Given the description of an element on the screen output the (x, y) to click on. 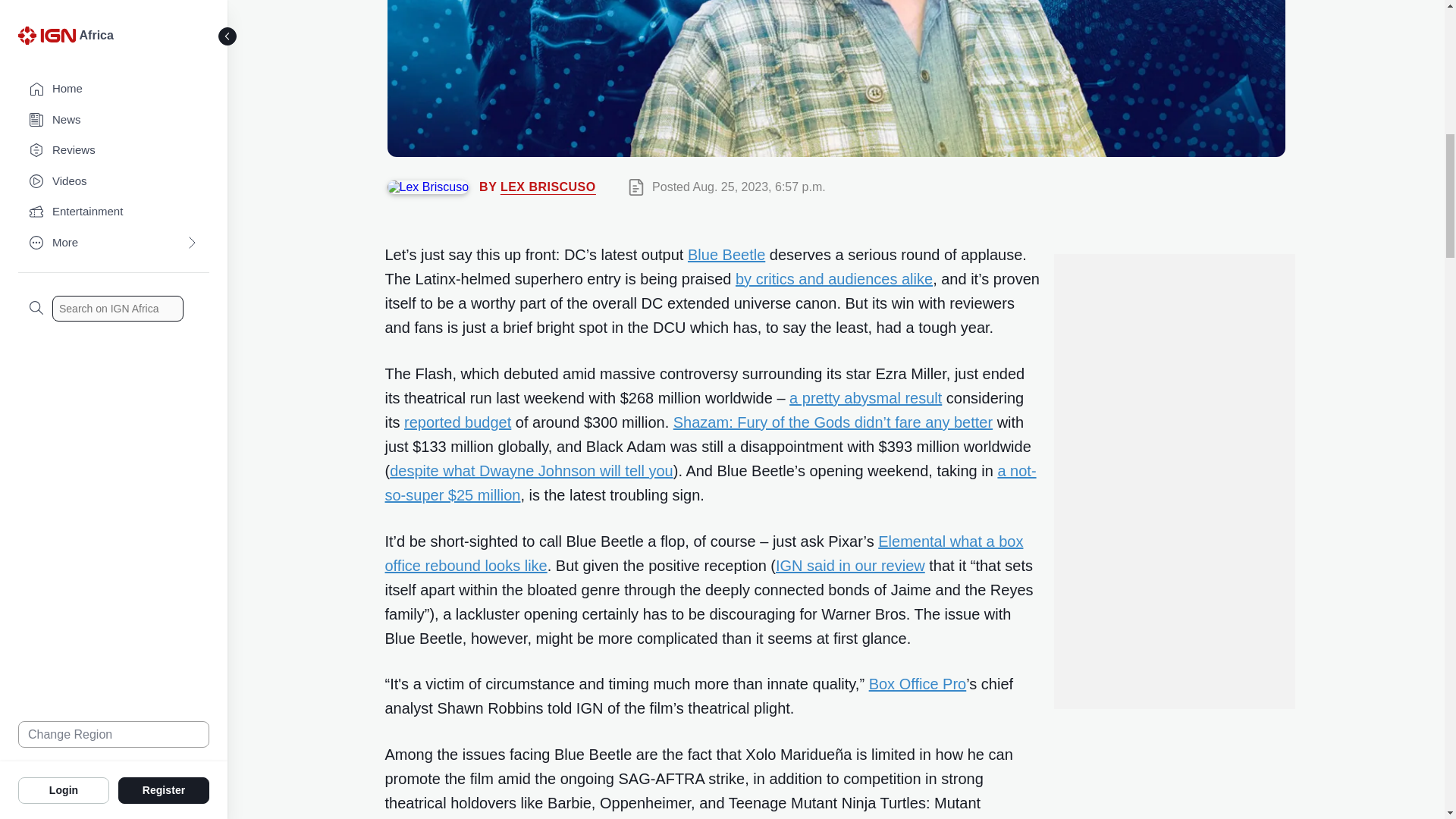
reported budget (457, 422)
Blue Beetle (726, 254)
LEX BRISCUSO (547, 186)
a pretty abysmal result (865, 397)
by critics and audiences alike (834, 279)
